Given the description of an element on the screen output the (x, y) to click on. 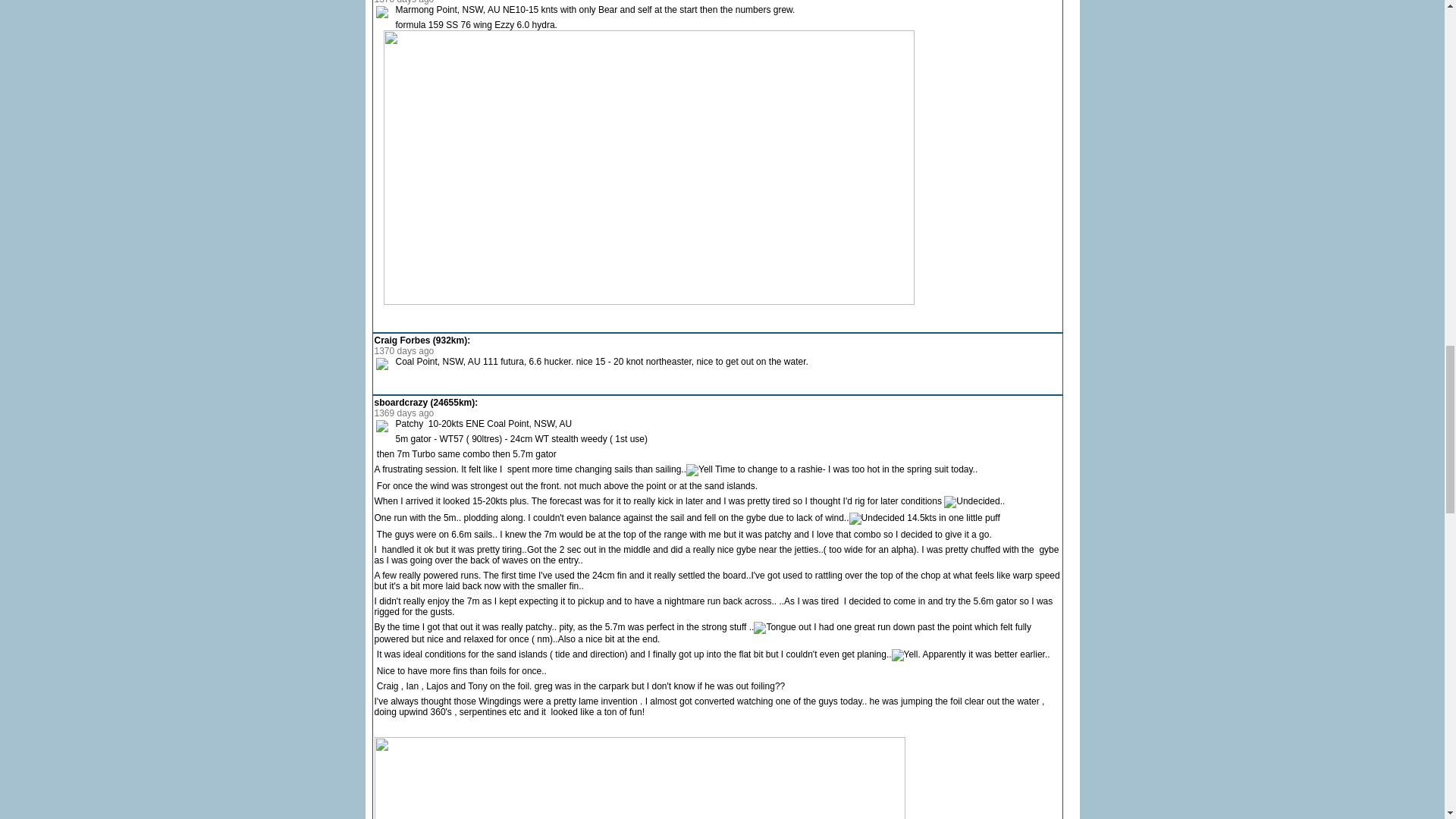
Tongue out (782, 627)
Undecided (970, 501)
Yell (904, 654)
Undecided (876, 518)
Yell (699, 469)
